Given the description of an element on the screen output the (x, y) to click on. 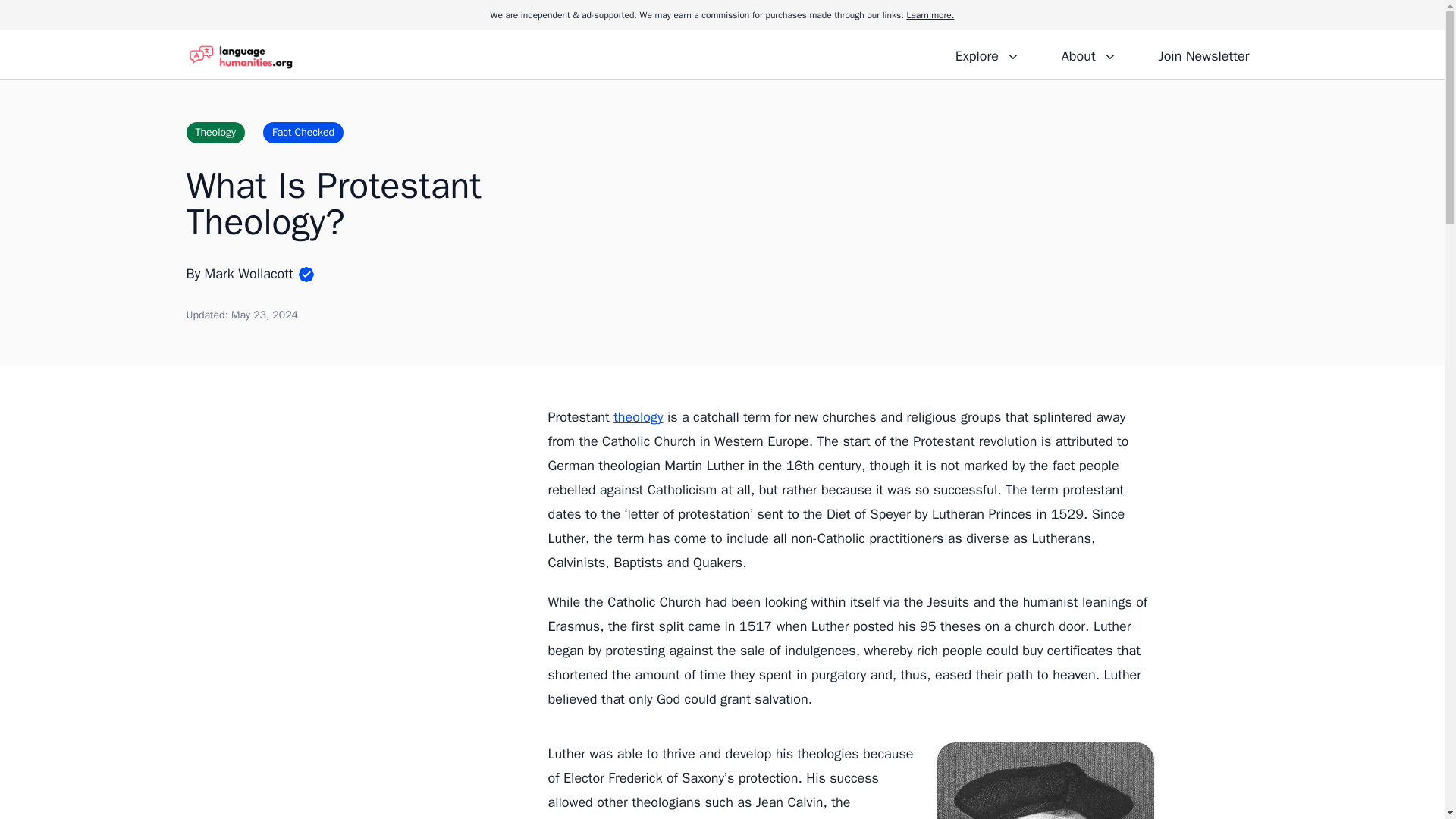
theology (637, 416)
Fact Checked (303, 132)
About (1088, 54)
Learn more. (929, 15)
Explore (986, 54)
Join Newsletter (1202, 54)
Theology (215, 132)
